Given the description of an element on the screen output the (x, y) to click on. 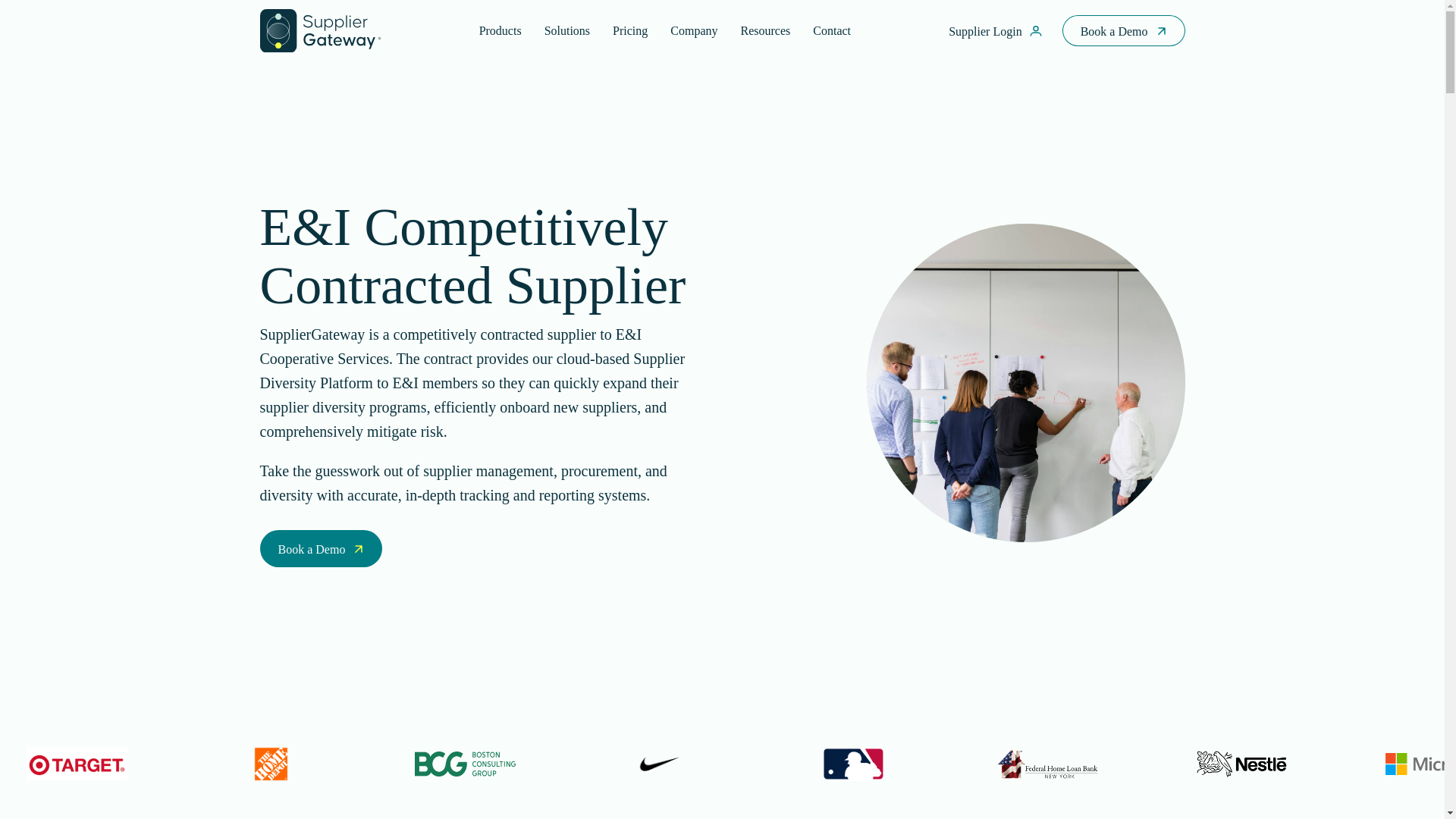
Supplier Login (997, 30)
Book a Demo (1123, 30)
Contact (831, 30)
Pricing (630, 30)
